Given the description of an element on the screen output the (x, y) to click on. 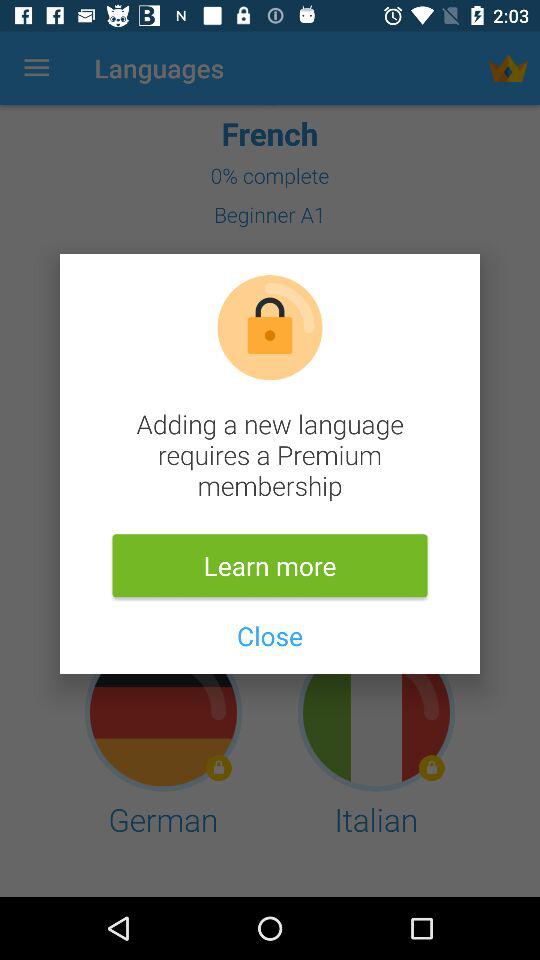
swipe to learn more item (269, 565)
